Given the description of an element on the screen output the (x, y) to click on. 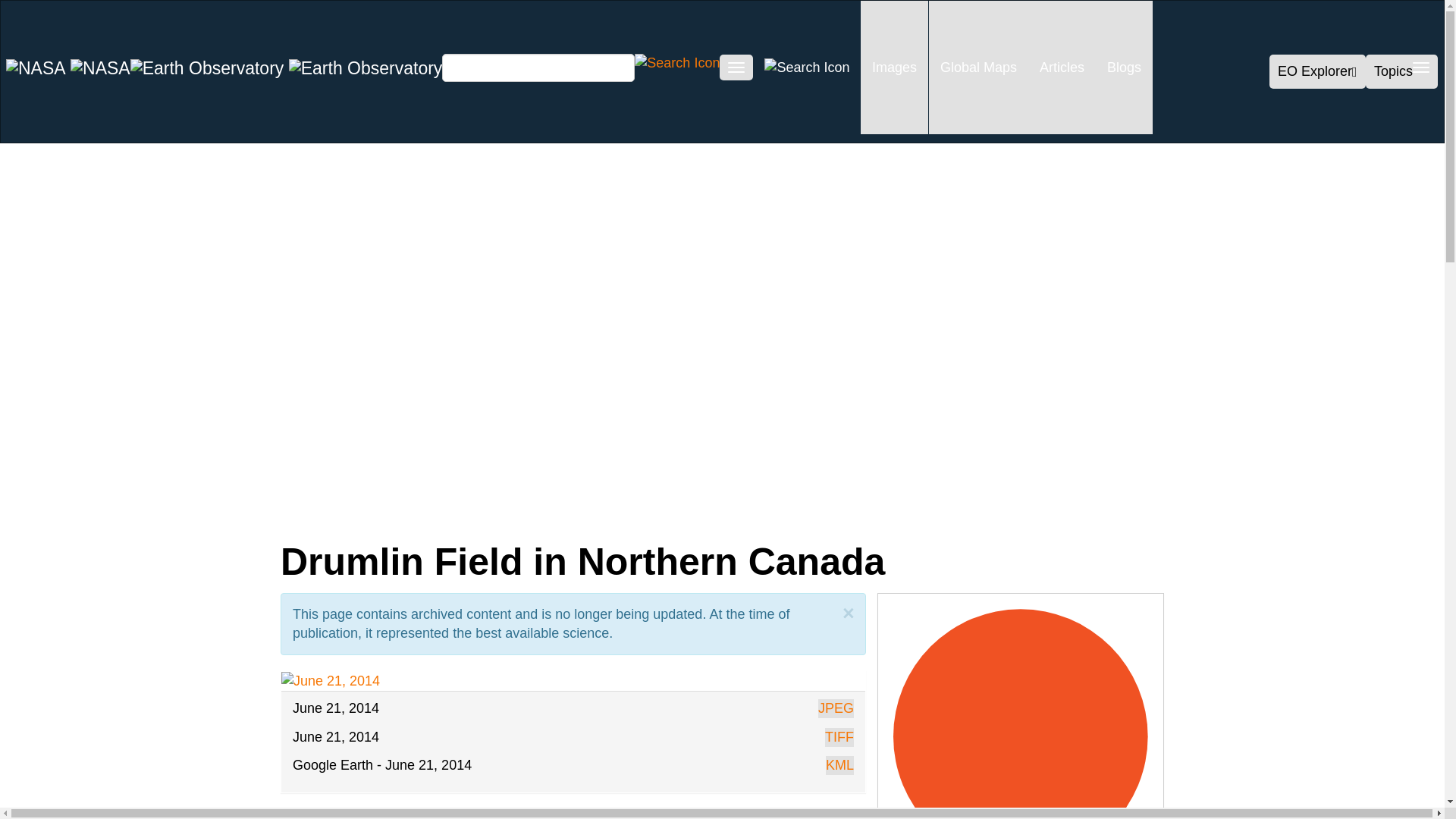
Search (676, 61)
Share (161, 512)
Print (510, 512)
